Given the description of an element on the screen output the (x, y) to click on. 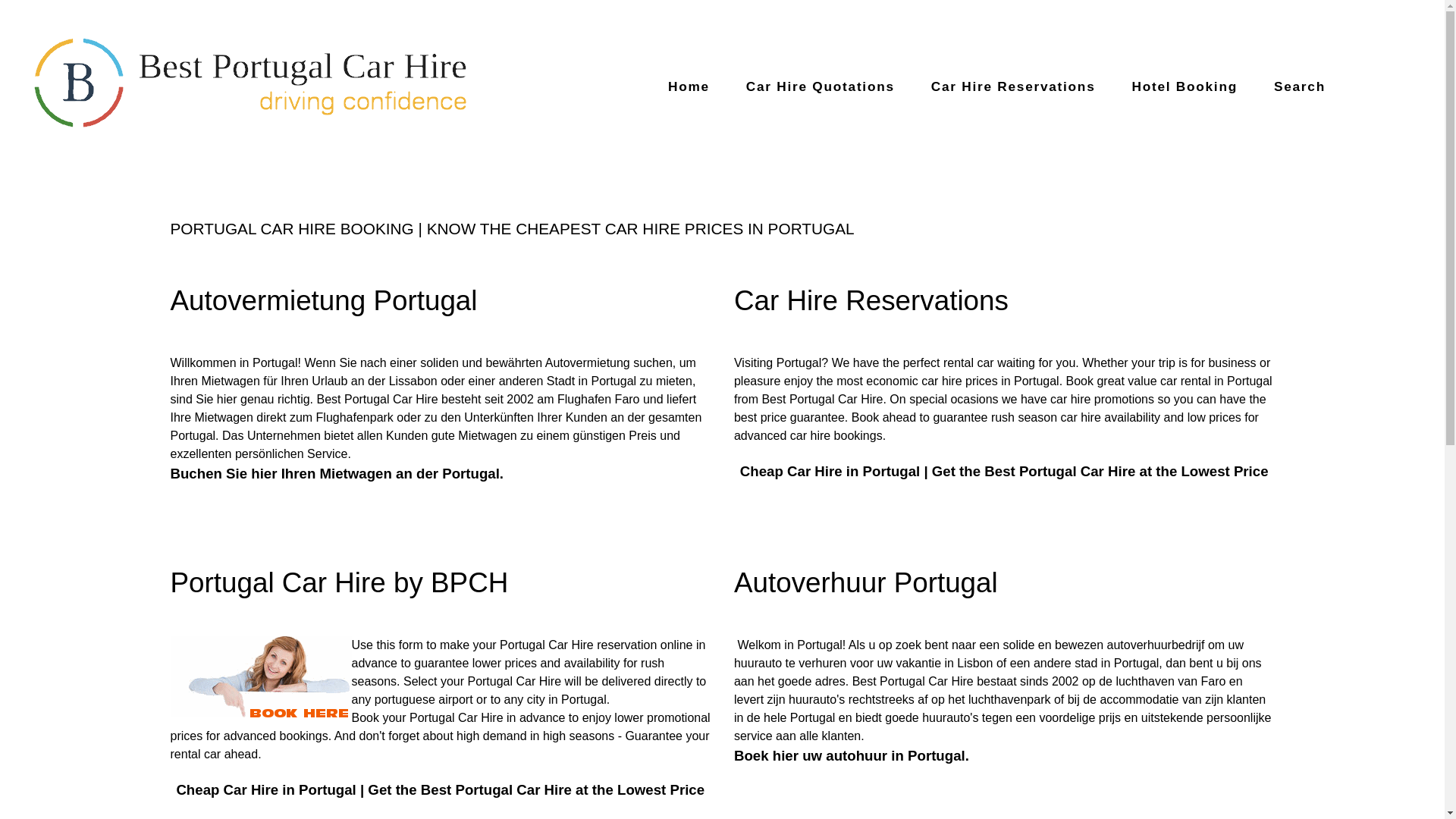
Home (688, 86)
Autovermietung Portugal (323, 300)
Portugal Car Hire by BPCH (339, 582)
Search (1299, 86)
Car Hire Reservations (871, 300)
Autoverhuur Portugal (865, 582)
Car Hire Quotations (820, 86)
Car Hire Reservations (1012, 86)
Hotel Booking (1184, 86)
best portugal car hire lisbon porto faro (251, 84)
